Given the description of an element on the screen output the (x, y) to click on. 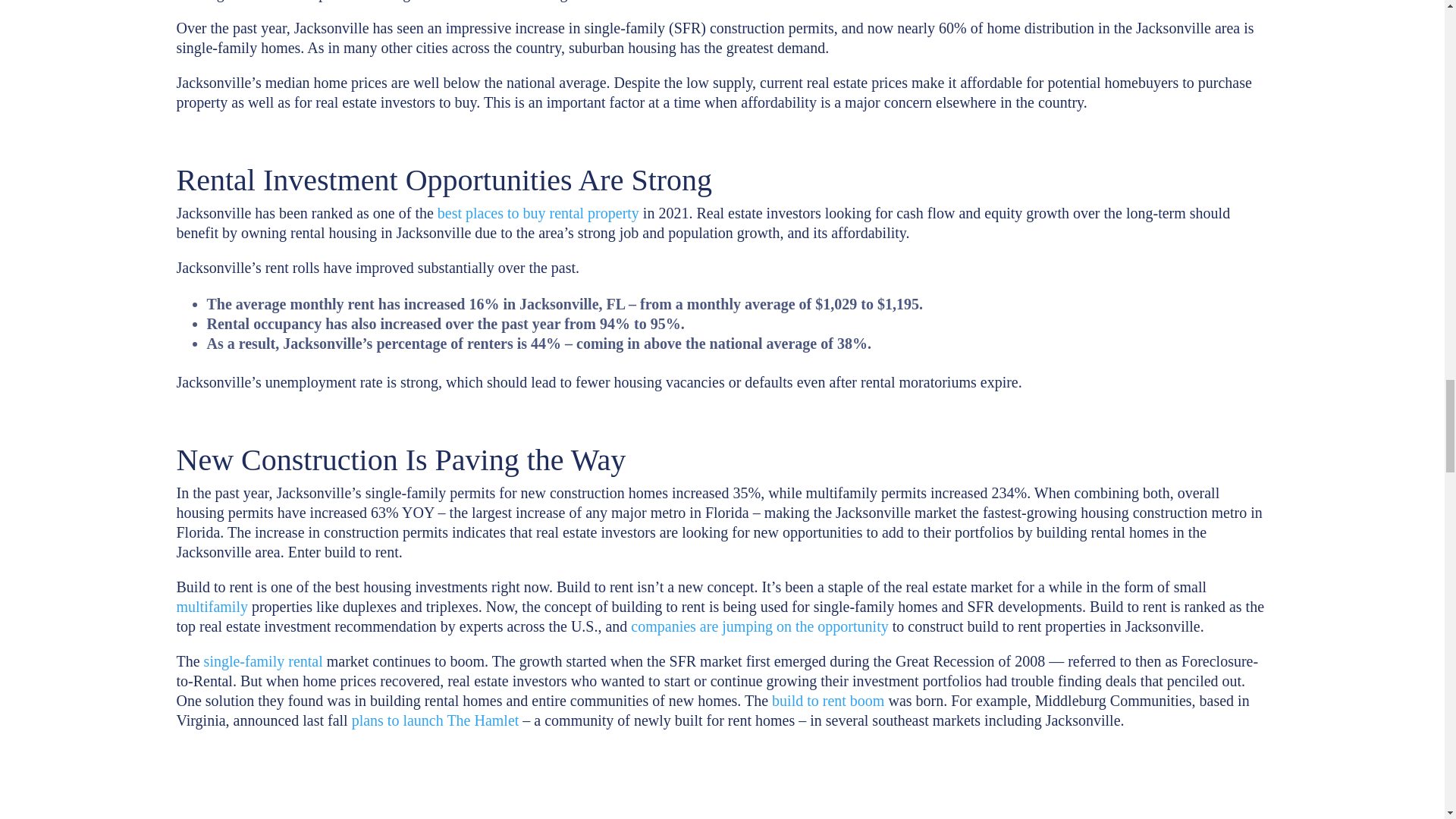
multifamily (211, 606)
companies are jumping on the opportunity (759, 626)
single-family rental (263, 660)
plans to launch The Hamlet (435, 719)
build to rent boom (827, 700)
best places to buy rental property (538, 212)
